Given the description of an element on the screen output the (x, y) to click on. 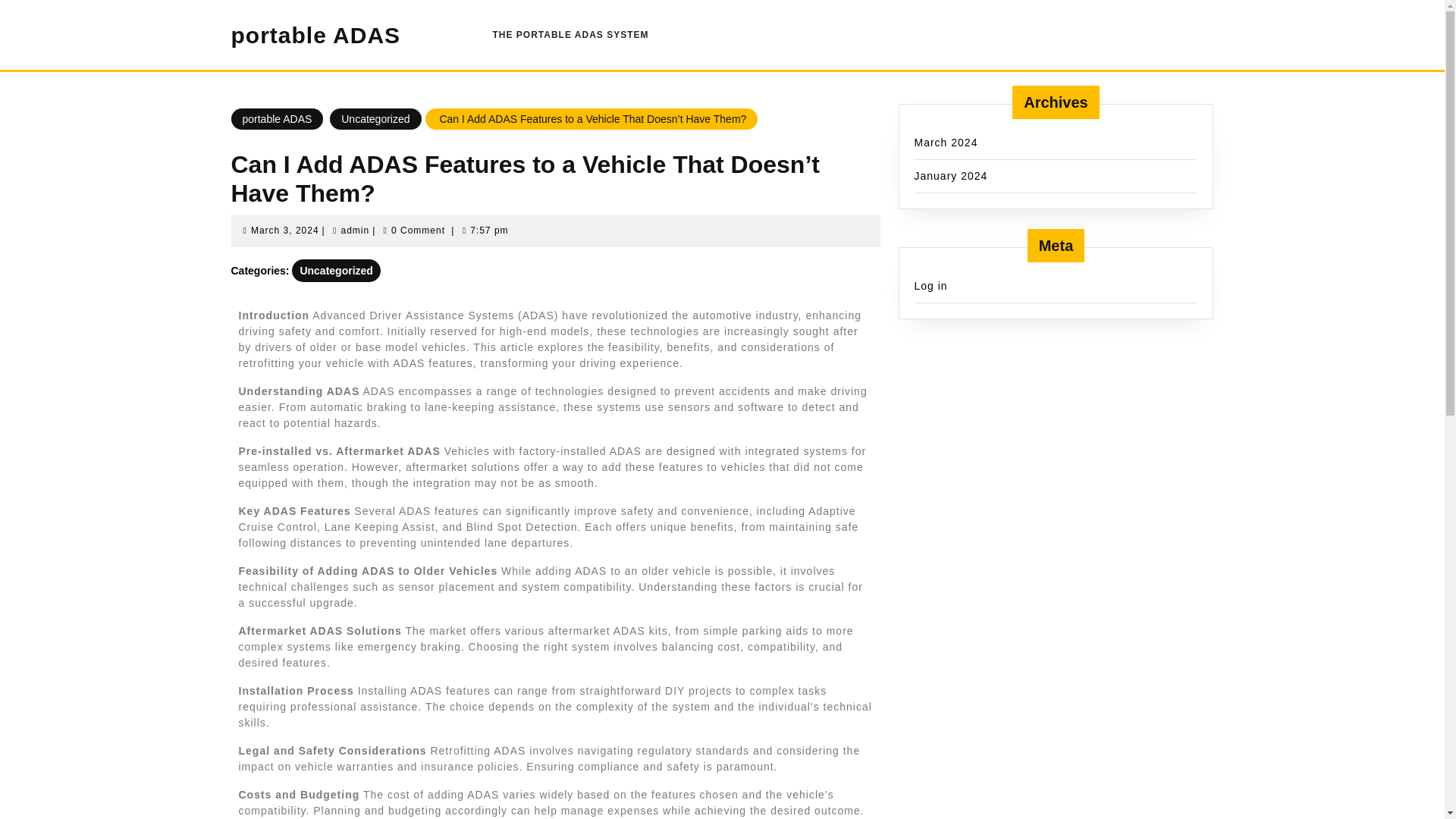
Uncategorized (336, 270)
Uncategorized (375, 118)
portable ADAS (276, 118)
Log in (930, 285)
portable ADAS (315, 34)
THE PORTABLE ADAS SYSTEM (569, 34)
March 2024 (946, 142)
admin (354, 230)
March 3, 2024 (284, 230)
January 2024 (951, 175)
